Given the description of an element on the screen output the (x, y) to click on. 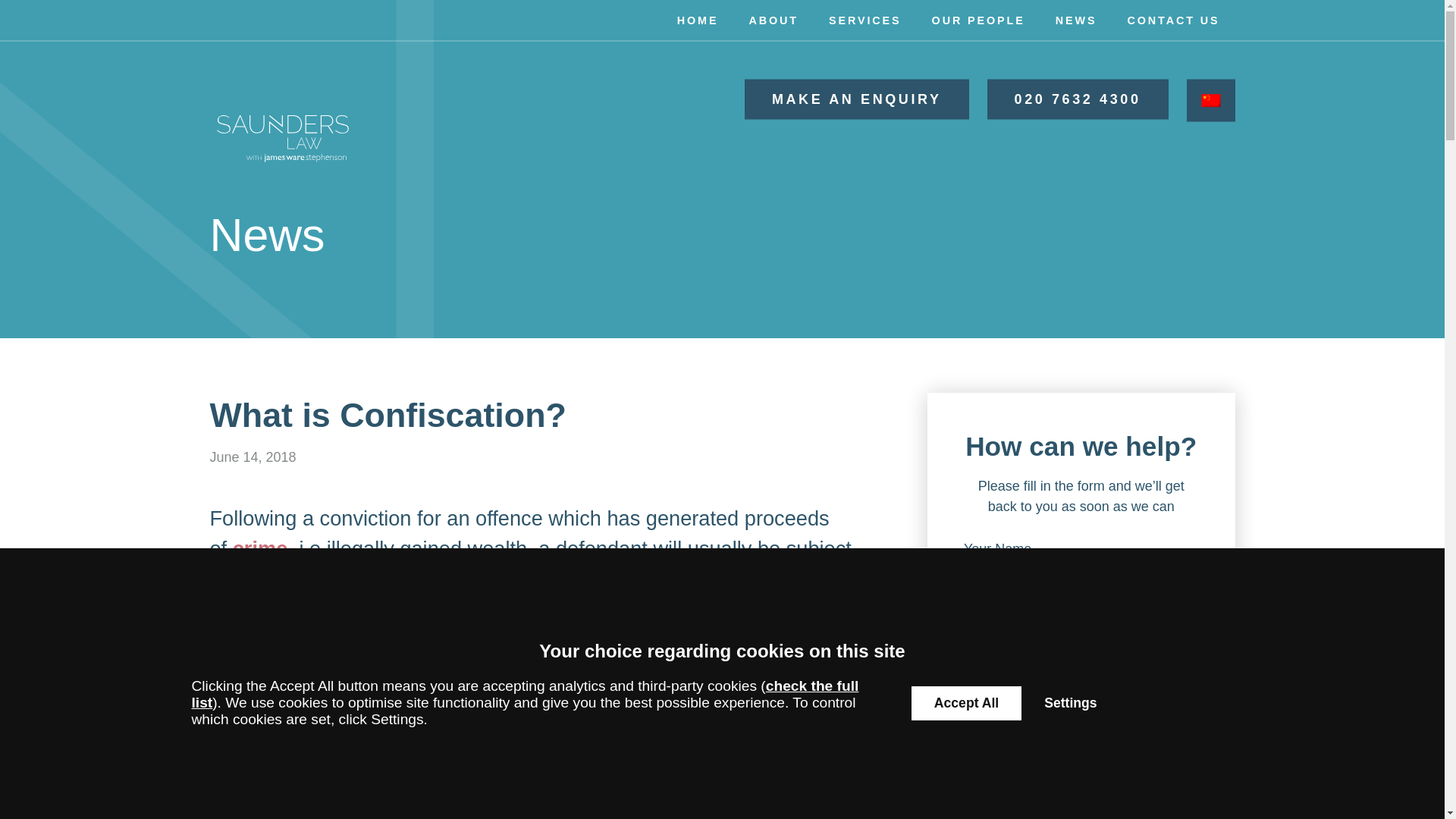
HOME (697, 20)
ABOUT (773, 20)
SERVICES (865, 20)
Submit form (1080, 741)
